Given the description of an element on the screen output the (x, y) to click on. 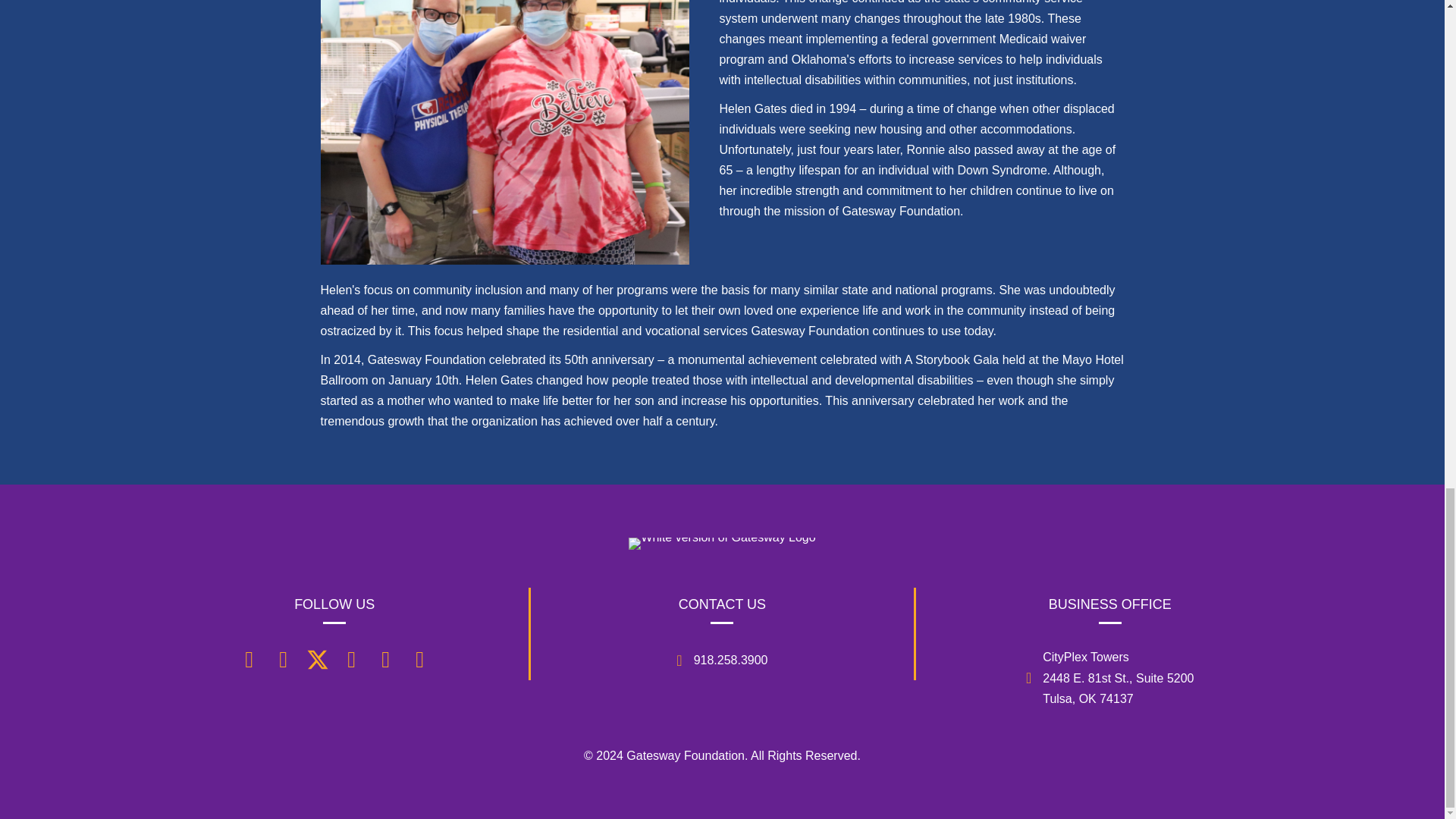
LinkedIn (351, 659)
Facebook (249, 659)
Instagram (283, 659)
YouTube (385, 659)
